Given the description of an element on the screen output the (x, y) to click on. 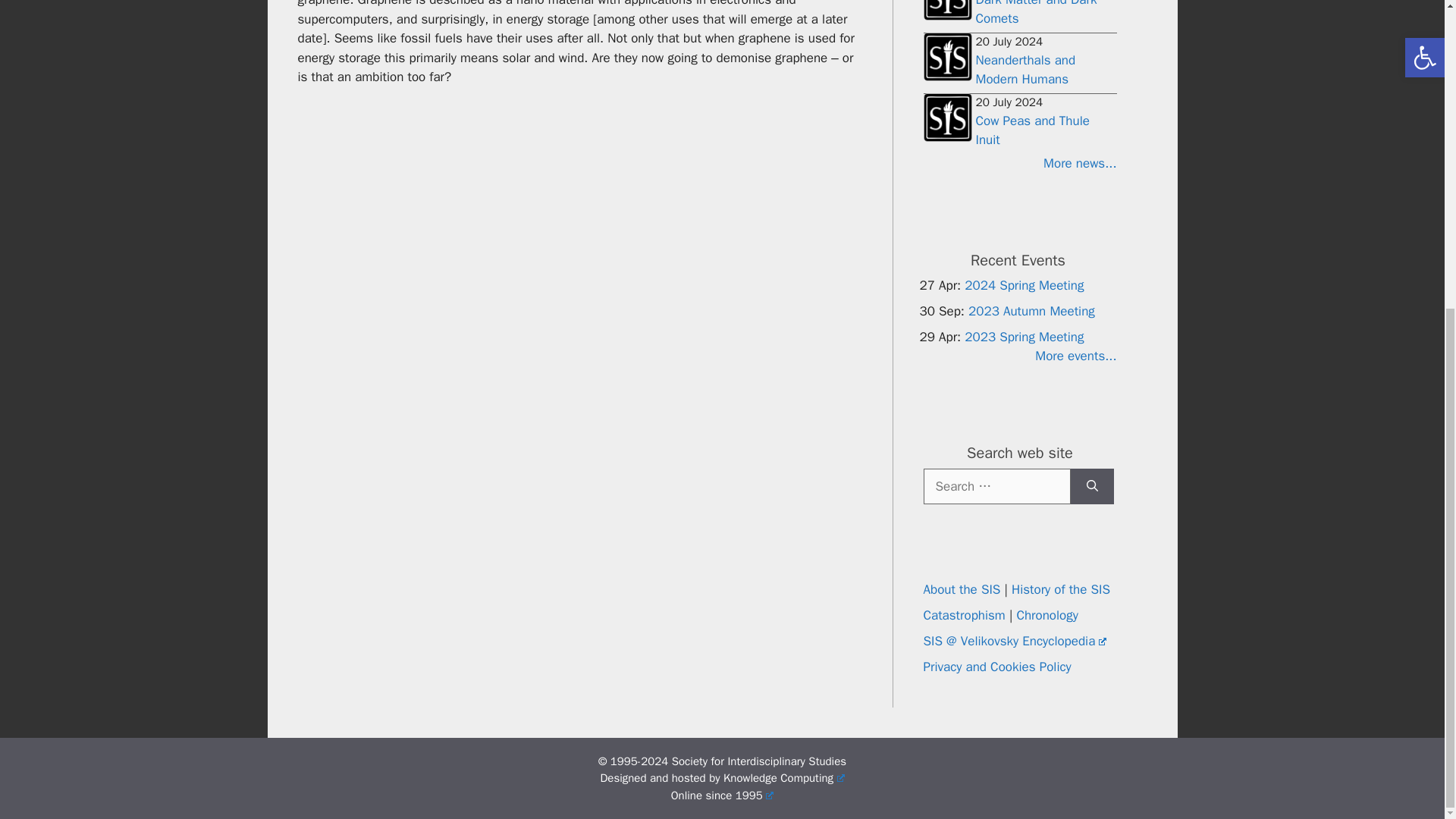
Search for: (996, 485)
